Given the description of an element on the screen output the (x, y) to click on. 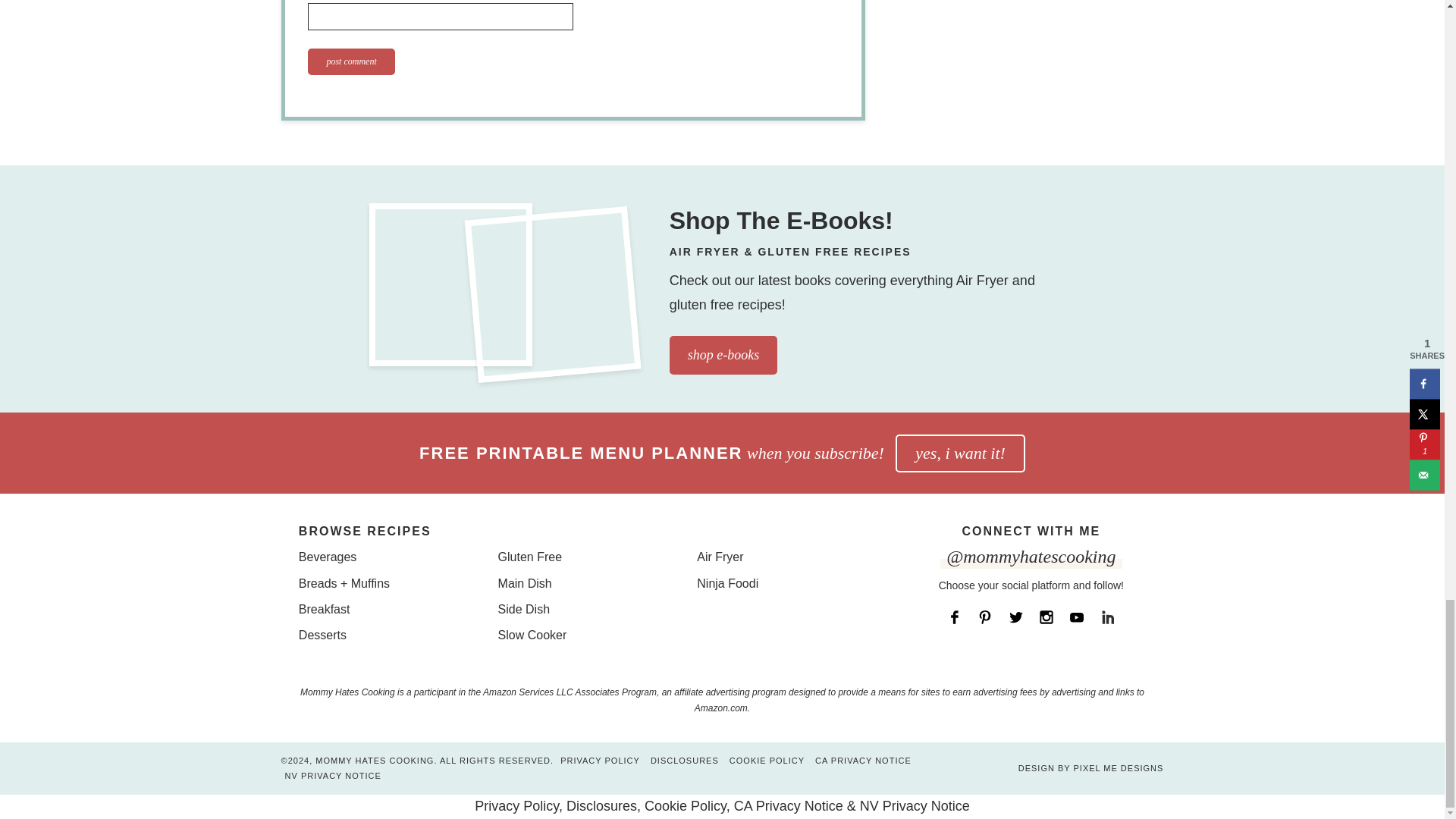
Post Comment (350, 61)
